Given the description of an element on the screen output the (x, y) to click on. 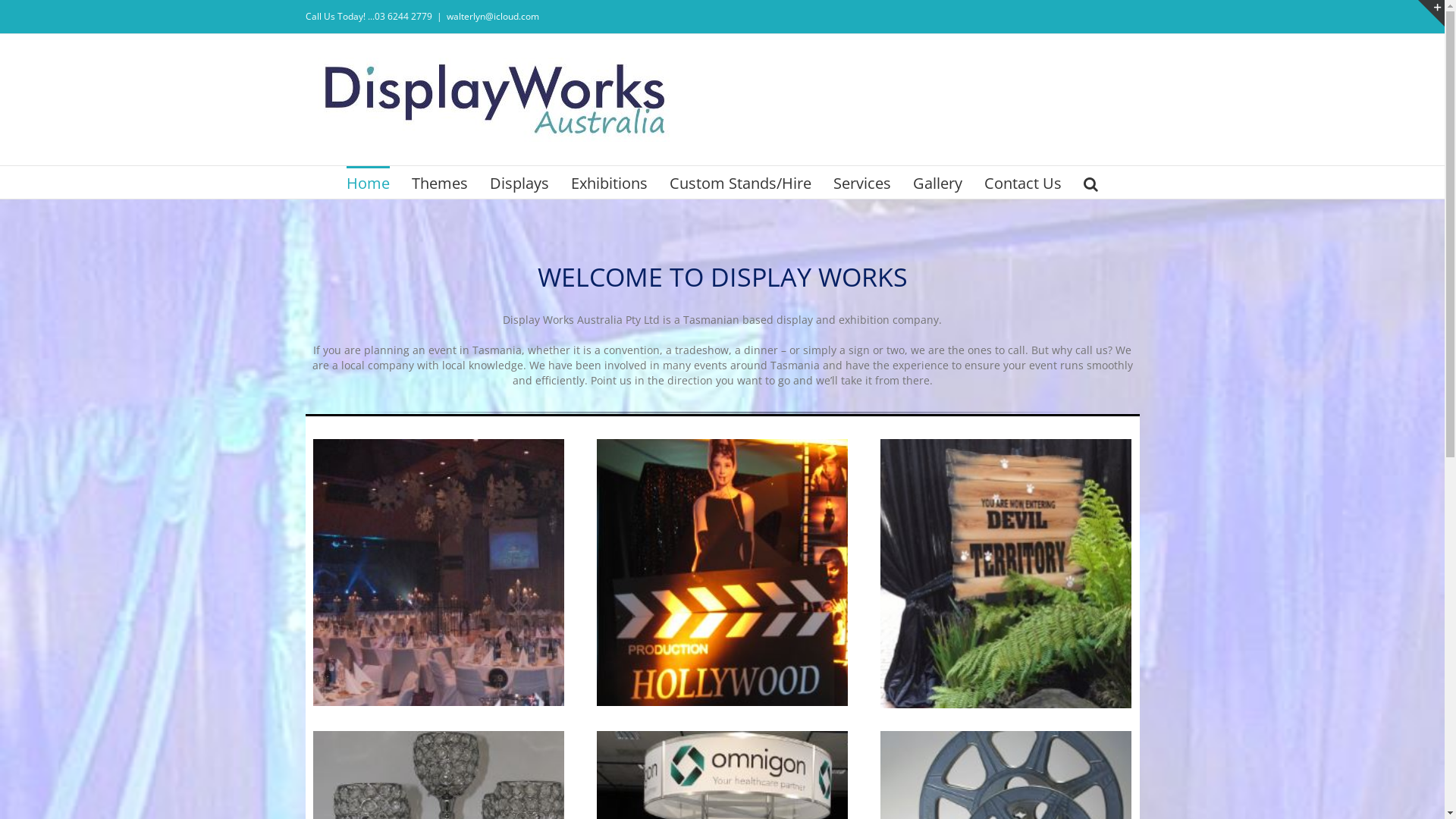
Contact Us Element type: text (1022, 182)
Gallery Element type: text (937, 182)
Custom Stands/Hire Element type: text (740, 182)
Displays Element type: text (519, 182)
Services Element type: text (862, 182)
Exhibitions Element type: text (609, 182)
Themes Element type: text (439, 182)
Home Element type: text (367, 182)
walterlyn@icloud.com Element type: text (491, 15)
